Given the description of an element on the screen output the (x, y) to click on. 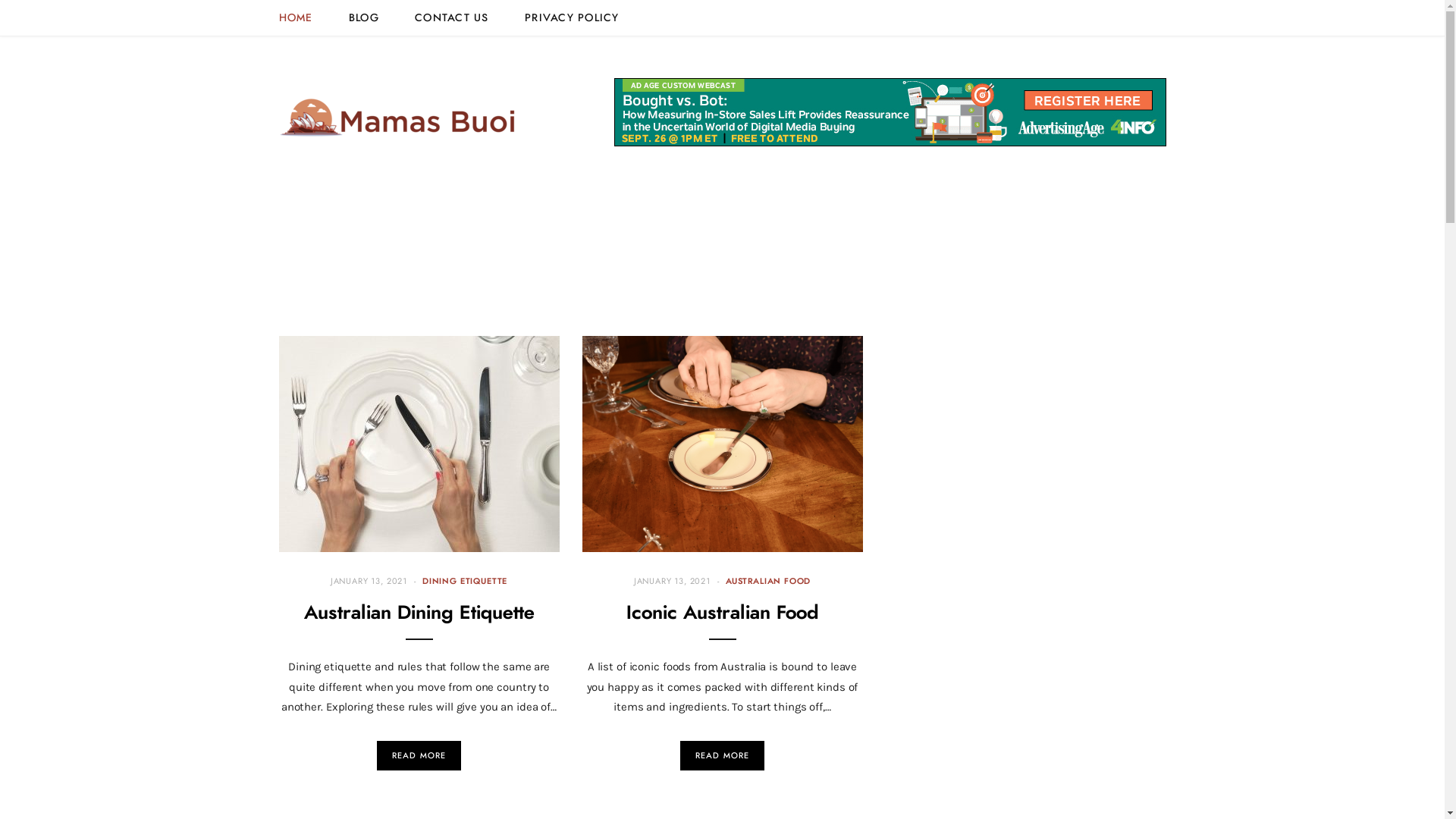
JANUARY 13, 2021 Element type: text (368, 581)
Iconic Australian Food Element type: text (722, 612)
CONTACT US Element type: text (451, 18)
Iconic Australian Food Element type: hover (722, 443)
READ MORE Element type: text (722, 755)
HOME Element type: text (295, 18)
AUSTRALIAN FOOD Element type: text (767, 581)
BLOG Element type: text (363, 18)
JANUARY 13, 2021 Element type: text (671, 581)
Mamas Buoi Element type: hover (399, 112)
PRIVACY POLICY Element type: text (571, 18)
Australian Dining Etiquette Element type: hover (419, 443)
READ MORE Element type: text (418, 755)
DINING ETIQUETTE Element type: text (464, 581)
Australian Dining Etiquette Element type: text (418, 612)
